Given the description of an element on the screen output the (x, y) to click on. 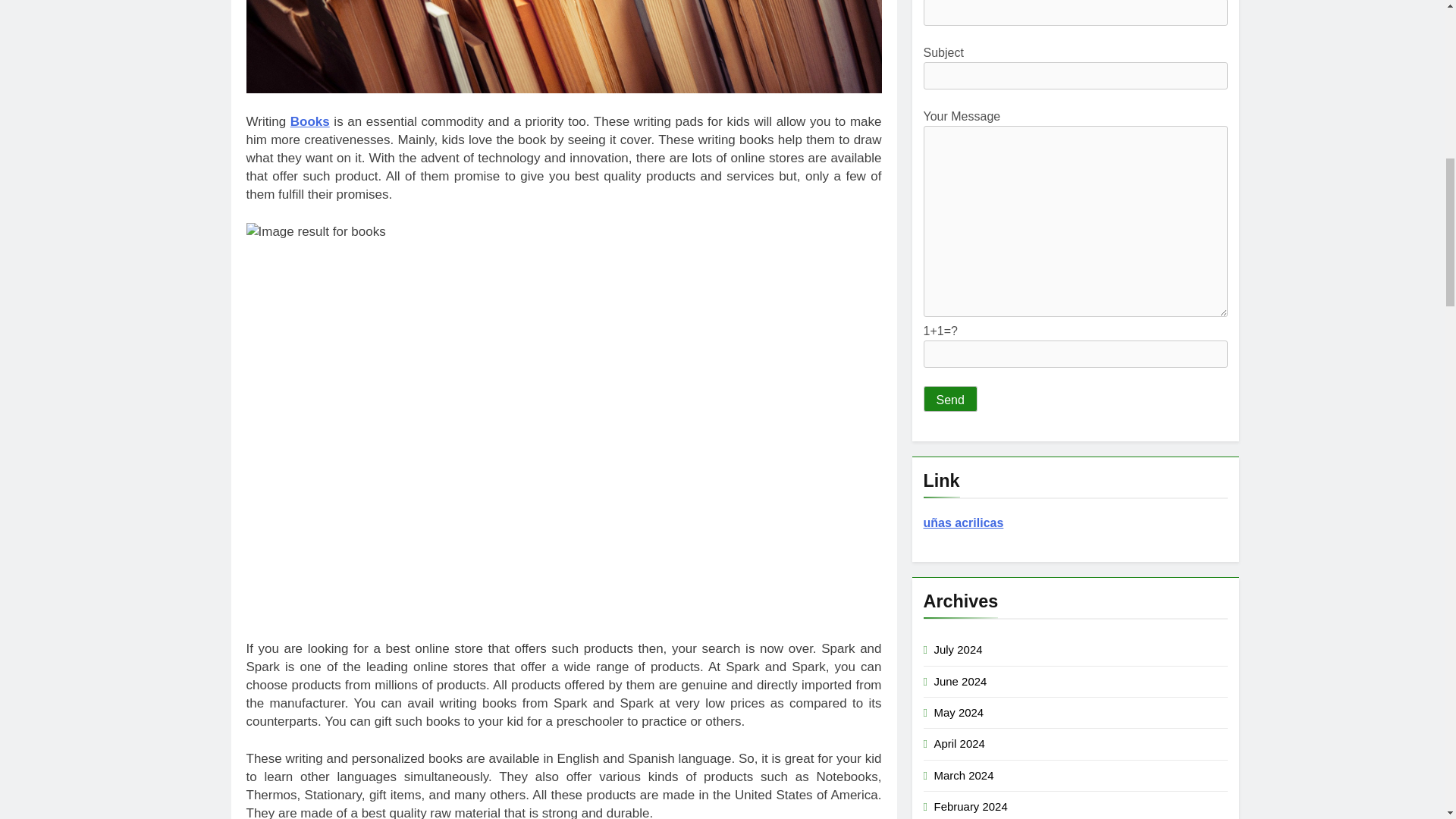
Send (949, 398)
